Given the description of an element on the screen output the (x, y) to click on. 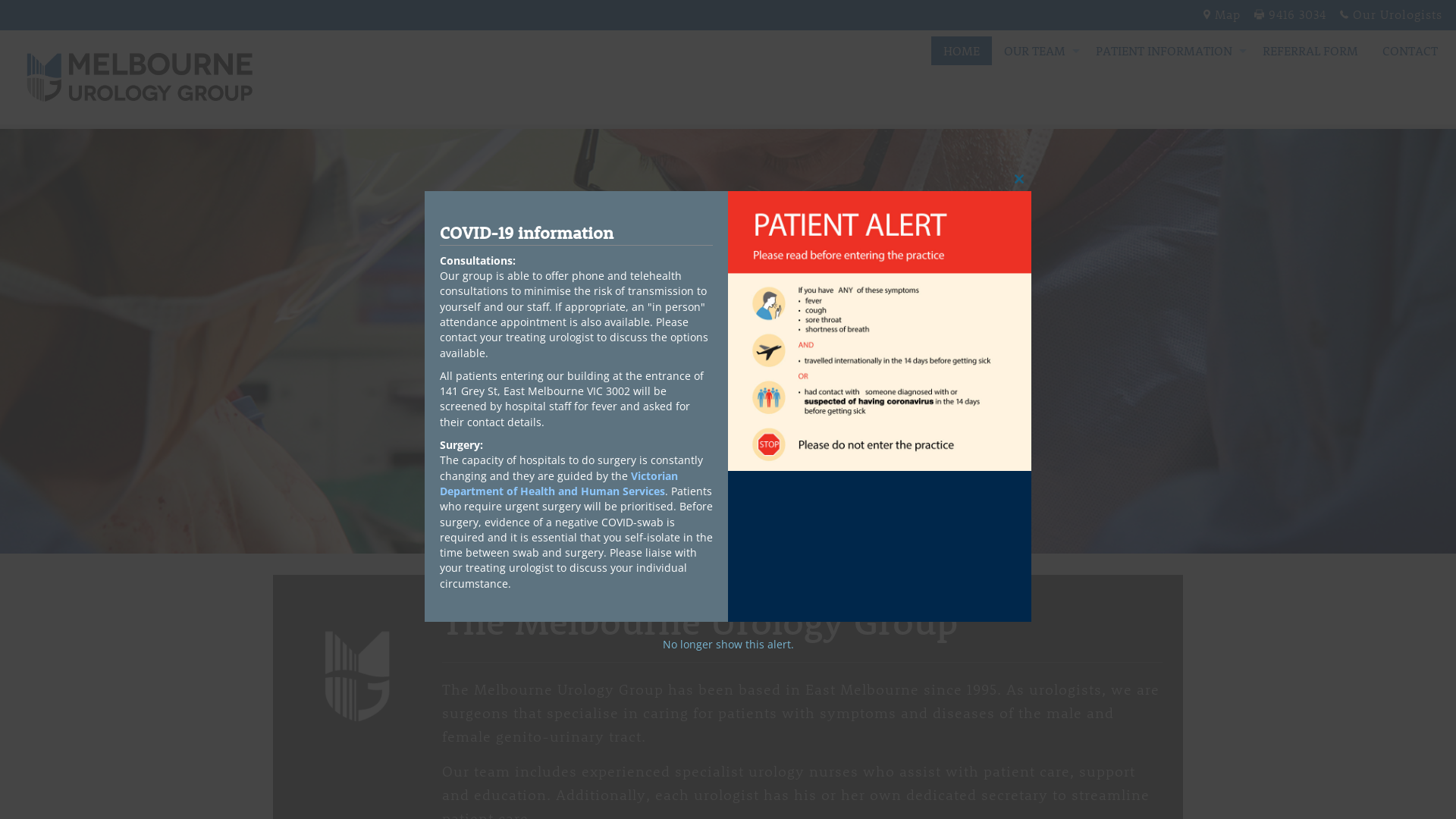
Map Element type: text (1228, 14)
Victorian Department of Health and Human Services Element type: text (558, 483)
OUR TEAM Element type: text (1037, 50)
9416 3034 Element type: text (1296, 14)
Close this module Element type: text (1019, 178)
PATIENT INFORMATION Element type: text (1166, 50)
HOME Element type: text (961, 50)
REFERRAL FORM Element type: text (1310, 50)
No longer show this alert. Element type: text (727, 644)
CONTACT Element type: text (1409, 50)
